Given the description of an element on the screen output the (x, y) to click on. 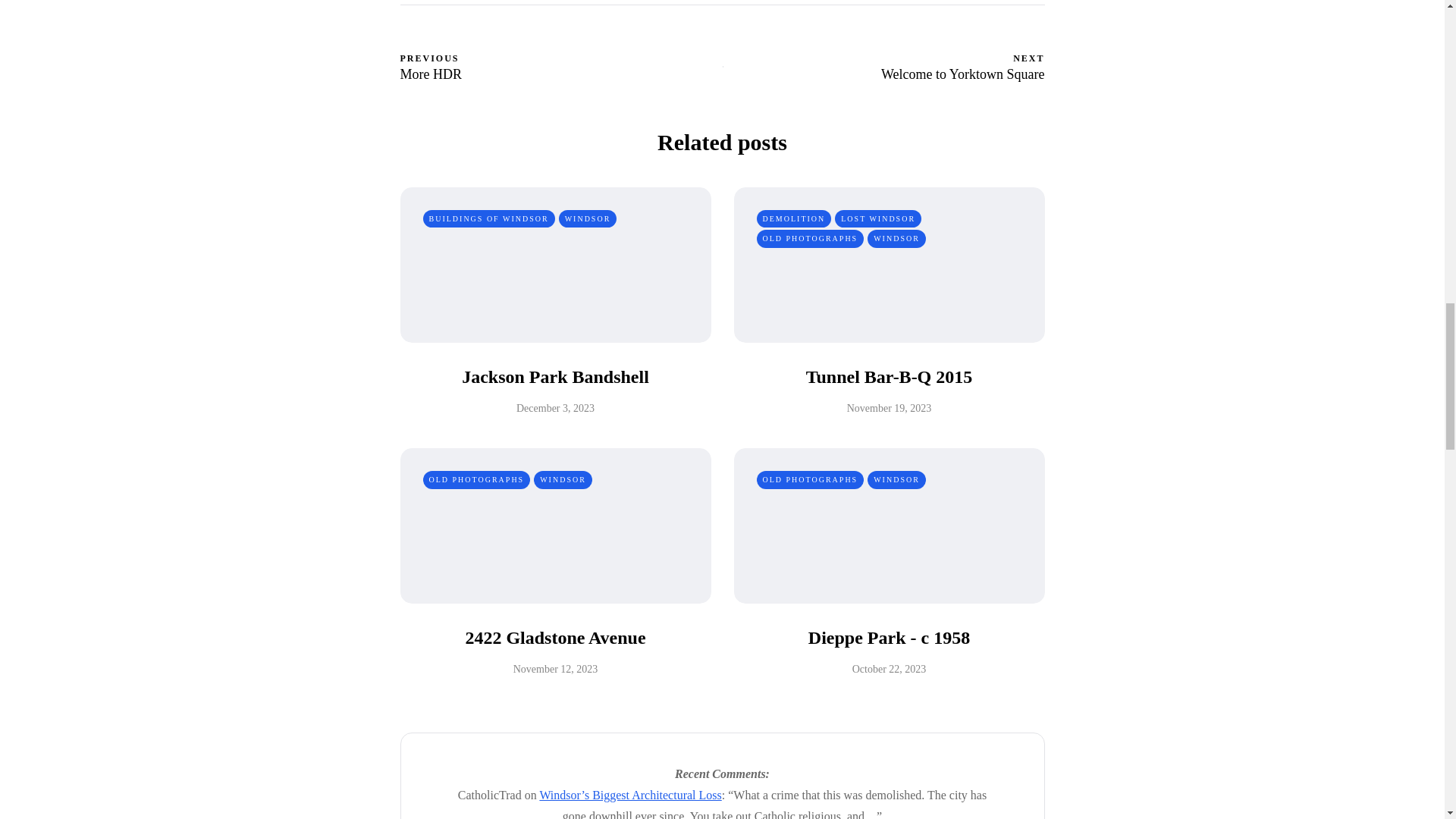
2422 Gladstone Avenue (554, 637)
Jackson Park Bandshell (555, 376)
OLD PHOTOGRAPHS (810, 239)
WINDSOR (896, 479)
DEMOLITION (561, 65)
WINDSOR (794, 218)
LOST WINDSOR (896, 239)
WINDSOR (877, 218)
